Given the description of an element on the screen output the (x, y) to click on. 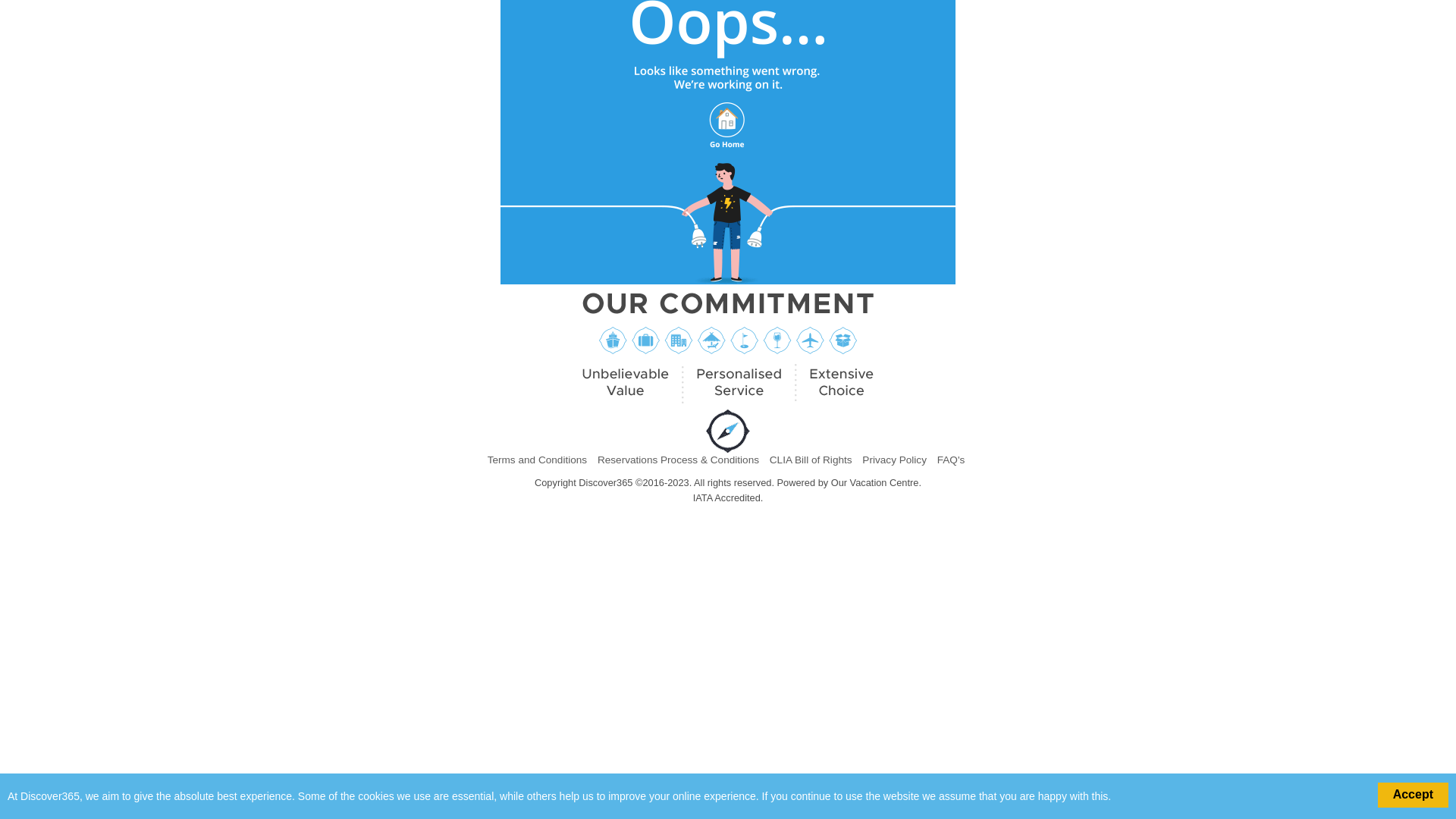
Privacy Policy Element type: text (894, 459)
Reservations Process & Conditions Element type: text (678, 459)
CLIA Bill of Rights Element type: text (810, 459)
Terms and Conditions Element type: text (536, 459)
FAQ's Element type: text (951, 459)
